Given the description of an element on the screen output the (x, y) to click on. 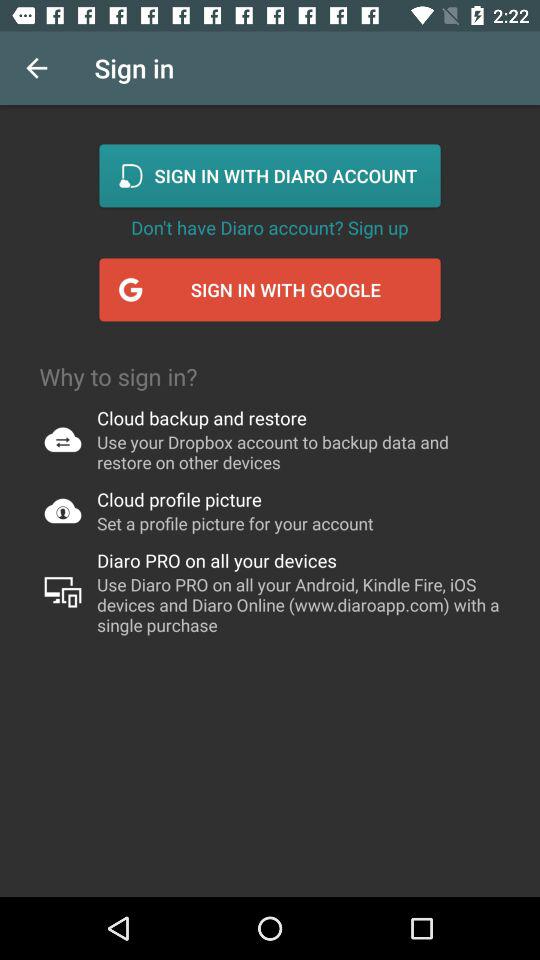
tap the item above sign in with icon (269, 227)
